Given the description of an element on the screen output the (x, y) to click on. 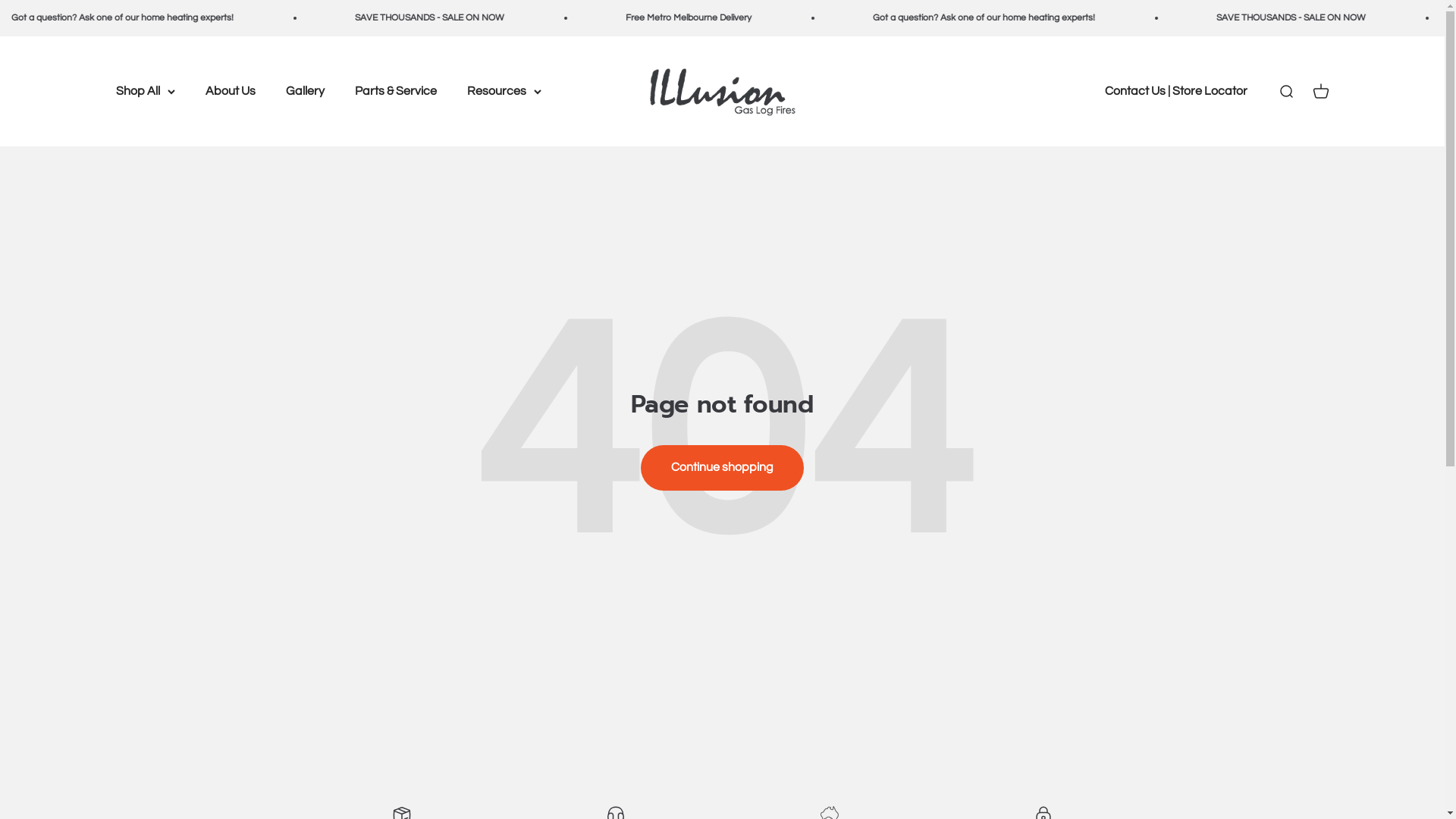
Parts & Service Element type: text (395, 90)
Gallery Element type: text (304, 90)
About Us Element type: text (229, 90)
Open search Element type: text (1285, 91)
Contact Us | Store Locator Element type: text (1175, 90)
Got a question? Ask one of our home heating experts! Element type: text (1092, 17)
Open cart
0 Element type: text (1319, 91)
Illusion Fires Element type: text (722, 91)
Continue shopping Element type: text (721, 467)
Got a question? Ask one of our home heating experts! Element type: text (232, 17)
